Given the description of an element on the screen output the (x, y) to click on. 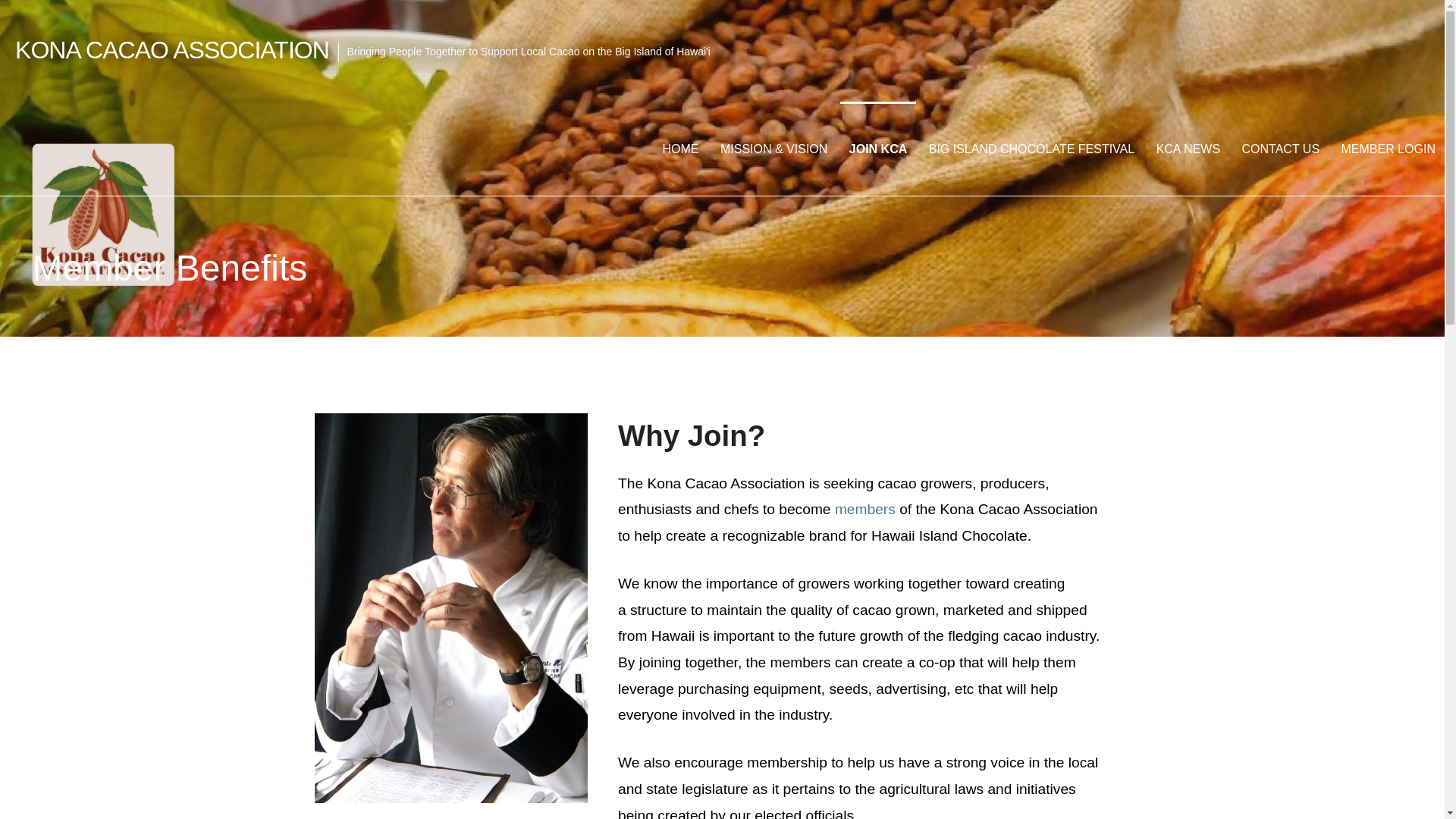
KCA NEWS (1187, 148)
BIG ISLAND CHOCOLATE FESTIVAL (1031, 148)
KONA CACAO ASSOCIATION (171, 49)
HOME (680, 148)
CONTACT US (1281, 148)
JOIN KCA (877, 148)
members (864, 508)
ChefStantonHo (451, 608)
